Given the description of an element on the screen output the (x, y) to click on. 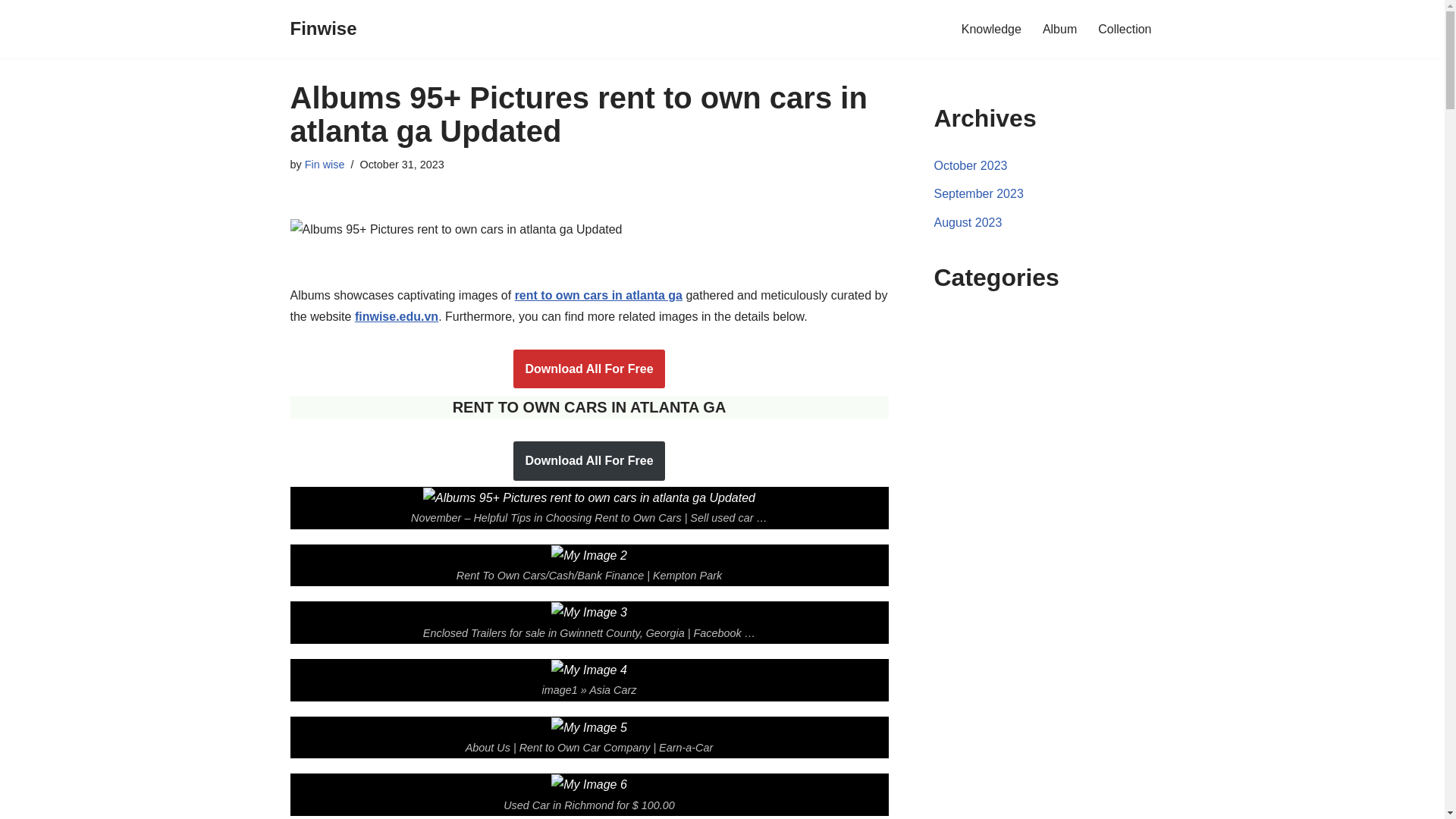
Posts by Fin wise (324, 164)
Fin wise (324, 164)
Skip to content (11, 31)
Knowledge (991, 28)
September 2023 (978, 193)
August 2023 (968, 222)
rent to own cars in atlanta ga (598, 295)
Download All For Free (588, 460)
Download All For Free (588, 369)
Album (1059, 28)
October 2023 (970, 164)
Collection (1124, 28)
Finwise (322, 29)
finwise.edu.vn (396, 316)
